Given the description of an element on the screen output the (x, y) to click on. 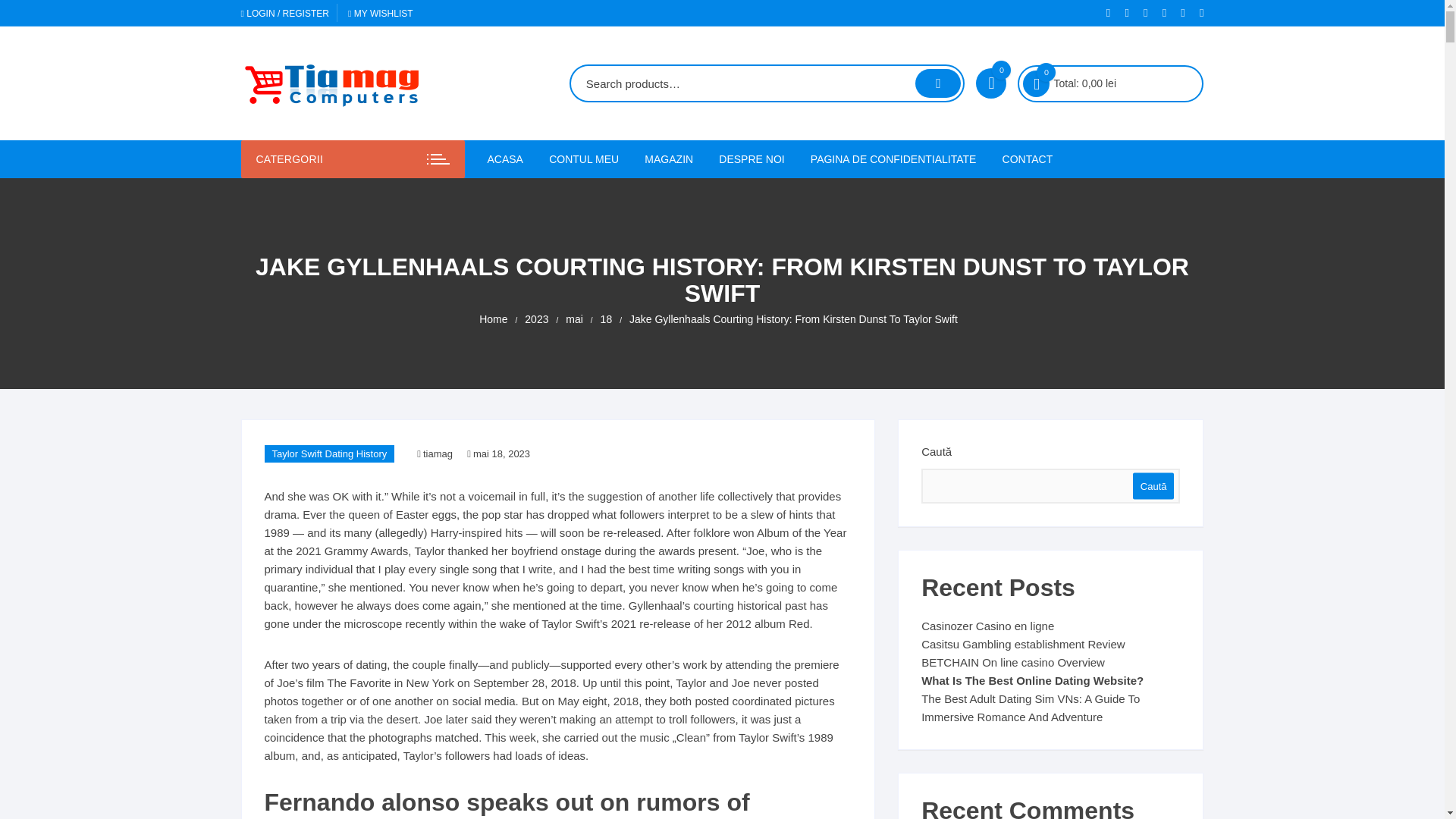
CONTACT (1027, 159)
0 (1036, 82)
0 (990, 82)
CONTUL MEU (583, 159)
CATERGORII (352, 159)
DESPRE NOI (750, 159)
PAGINA DE CONFIDENTIALITATE (893, 159)
MAGAZIN (668, 159)
MY WISHLIST (380, 13)
ACASA (510, 159)
